Given the description of an element on the screen output the (x, y) to click on. 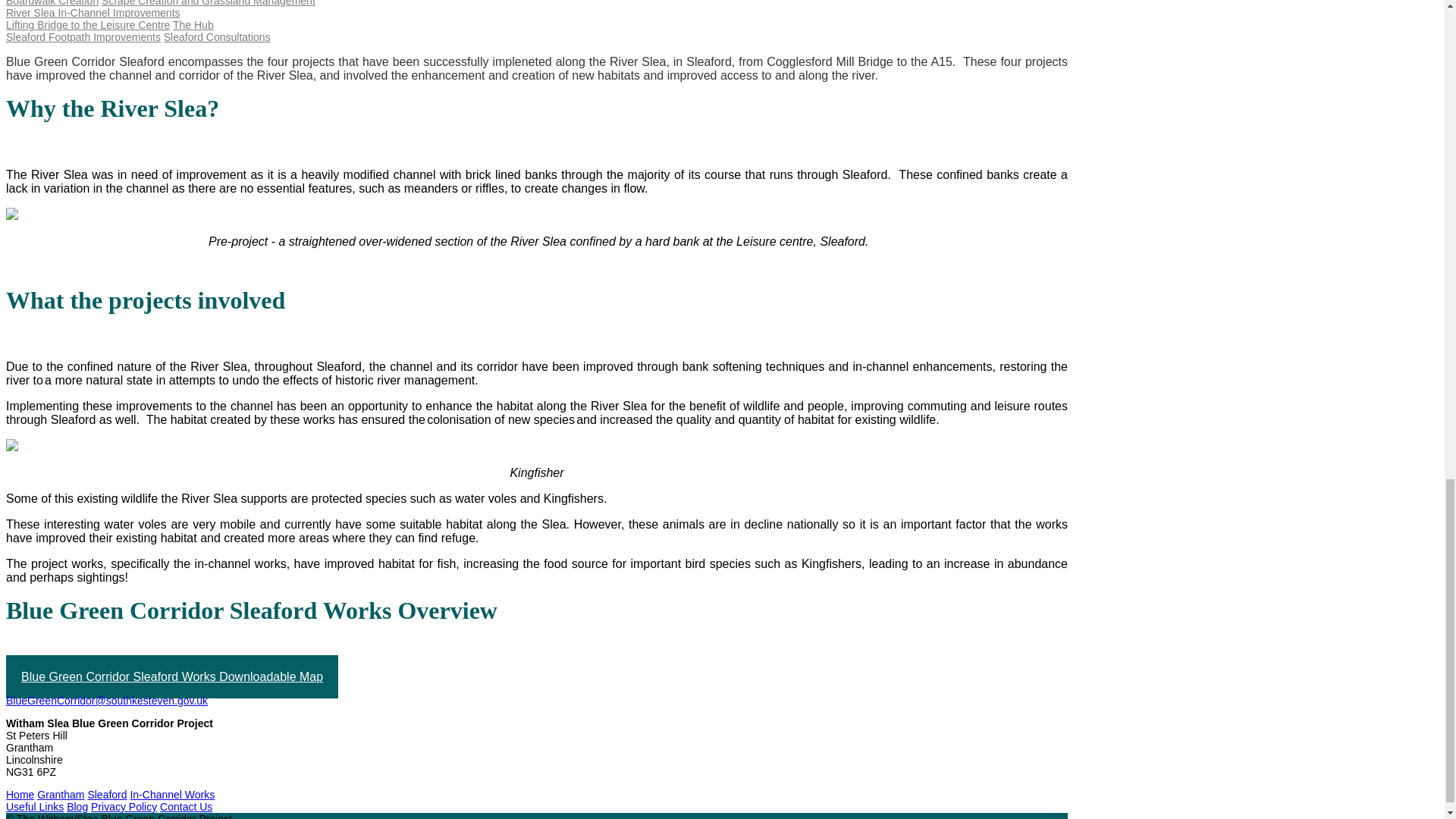
Home (19, 794)
Sleaford (106, 794)
Grantham (60, 794)
Useful Links (34, 806)
Privacy Policy (123, 806)
River Slea In-Channel Improvements (92, 12)
Home (19, 794)
River Slea In-Channel Improvements (92, 12)
Scrape Creation and Grassland Management (208, 3)
In-Channel Works (171, 794)
Privacy Policy (123, 806)
Contact Us (186, 806)
The Hub (193, 24)
Lifting Bridge to the Leisure Centre (87, 24)
In-Channel Works (171, 794)
